Given the description of an element on the screen output the (x, y) to click on. 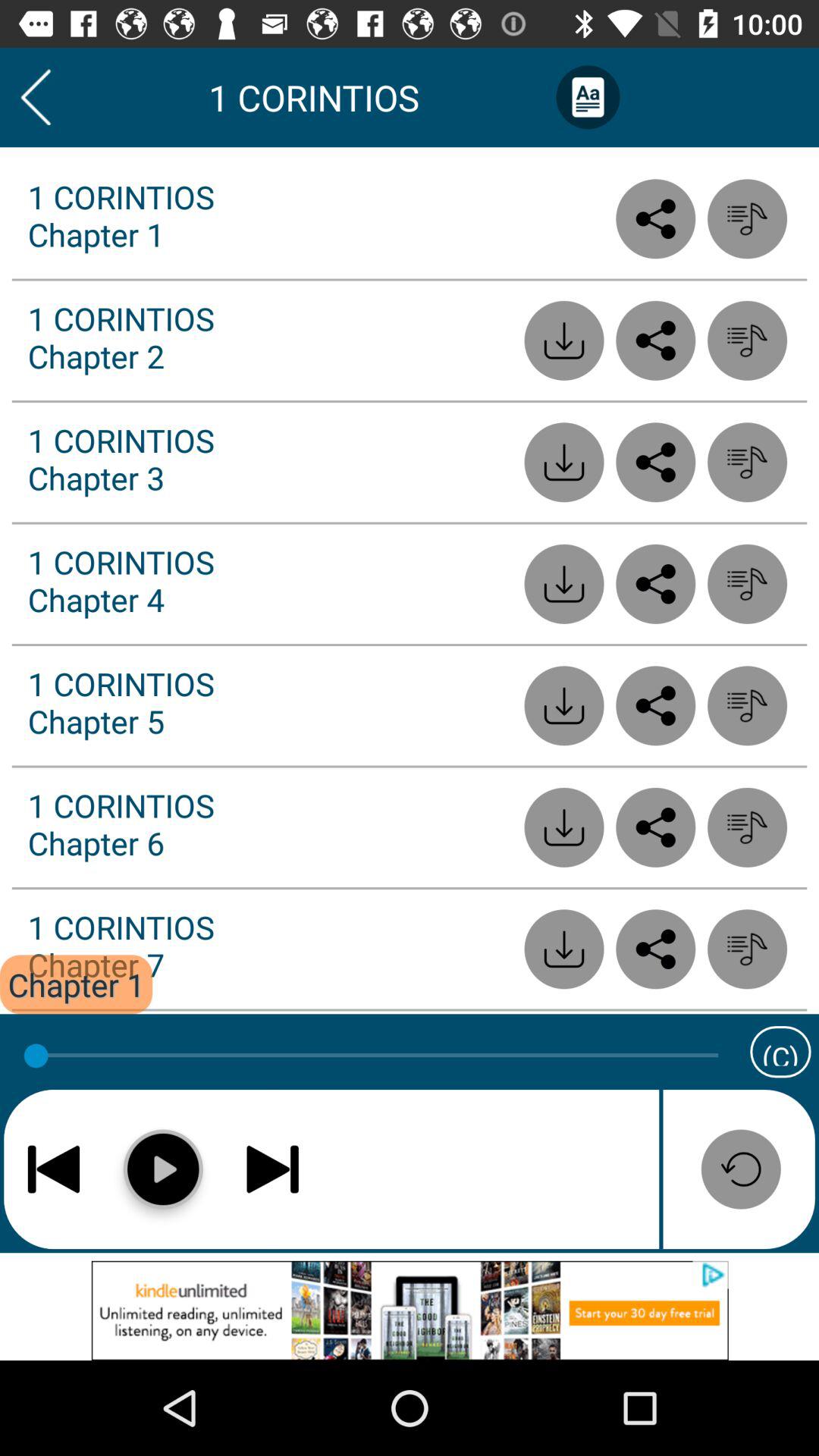
download chapter (564, 827)
